Given the description of an element on the screen output the (x, y) to click on. 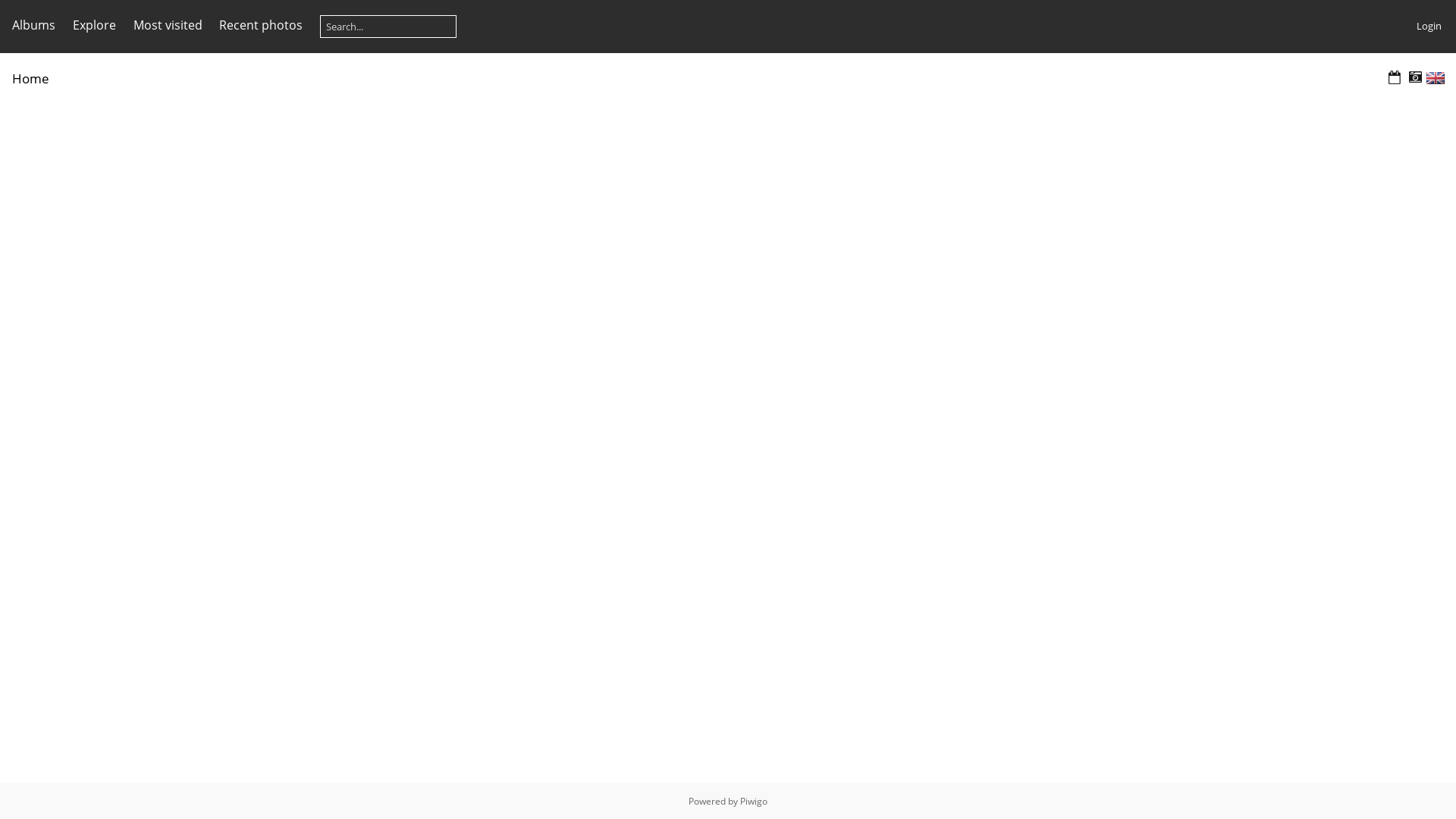
Most visited Element type: text (167, 24)
Piwigo Element type: text (753, 800)
display a calendar by creation date Element type: hover (1414, 77)
Explore Element type: text (94, 24)
Home Element type: text (30, 78)
  Element type: text (1436, 77)
Albums Element type: text (33, 24)
Login Element type: text (1428, 25)
Language Element type: hover (1436, 77)
Recent photos Element type: text (260, 24)
display a calendar by posted date Element type: hover (1394, 77)
